Given the description of an element on the screen output the (x, y) to click on. 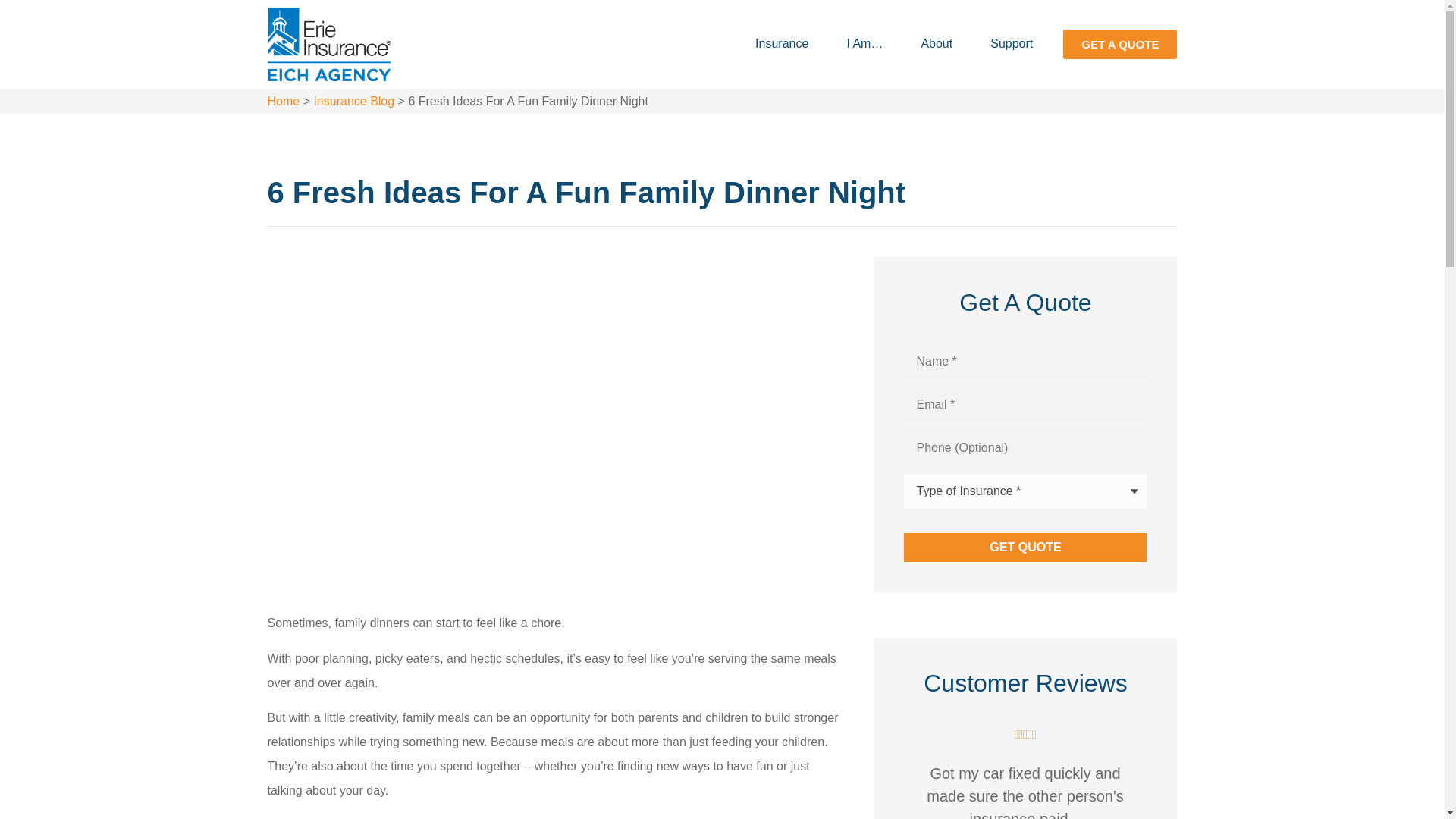
About (936, 44)
Insurance (781, 44)
eich logo (328, 44)
Support (1011, 44)
Get Quote (1025, 547)
